Given the description of an element on the screen output the (x, y) to click on. 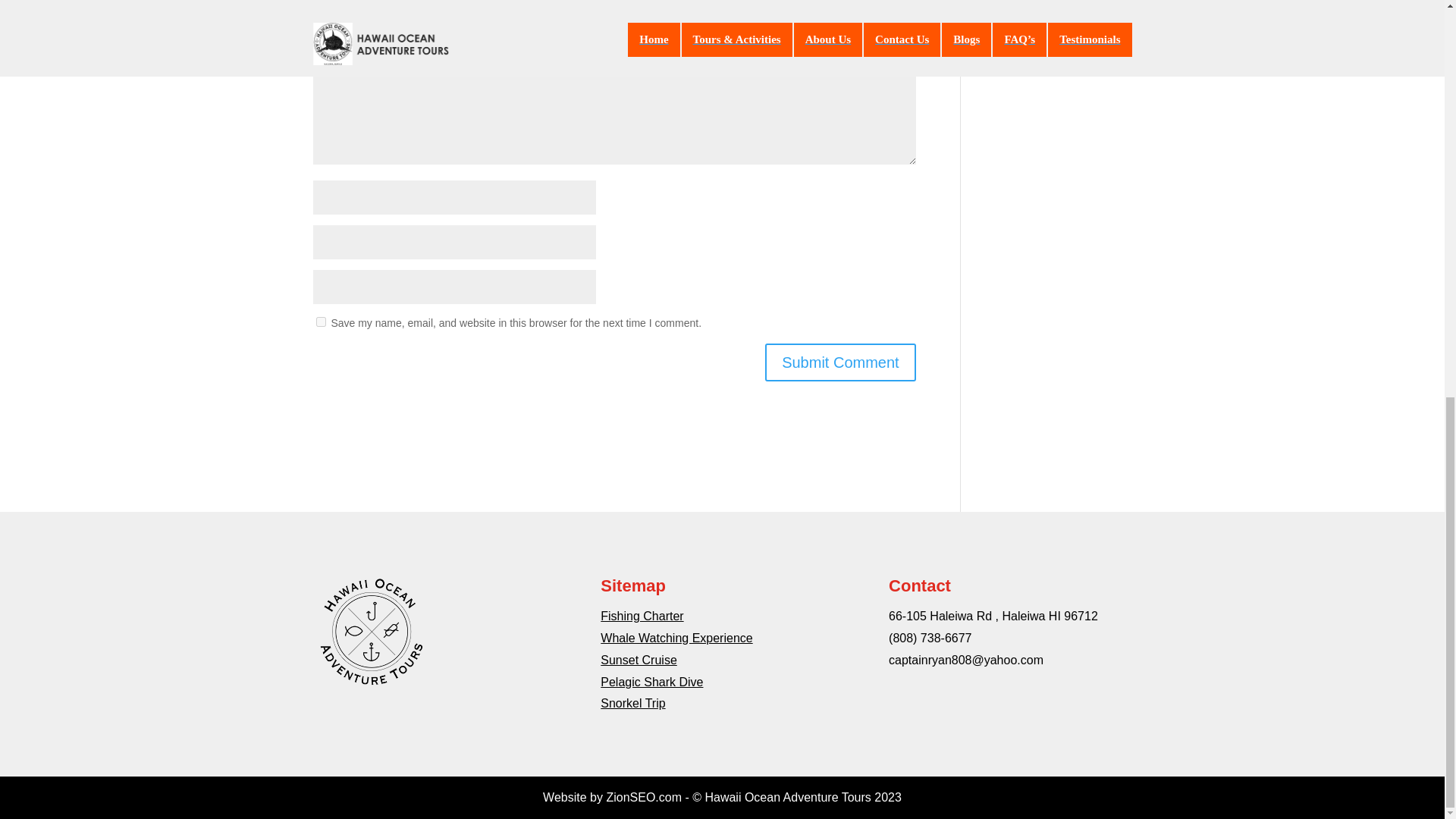
Submit Comment (840, 362)
LOGO-PNG (370, 631)
Sunset Cruise (638, 659)
Submit Comment (840, 362)
Pelagic Shark Dive (651, 681)
Snorkel Trip (632, 703)
yes (319, 321)
Fishing Charter (640, 615)
Whale Watching Experience (675, 637)
